Given the description of an element on the screen output the (x, y) to click on. 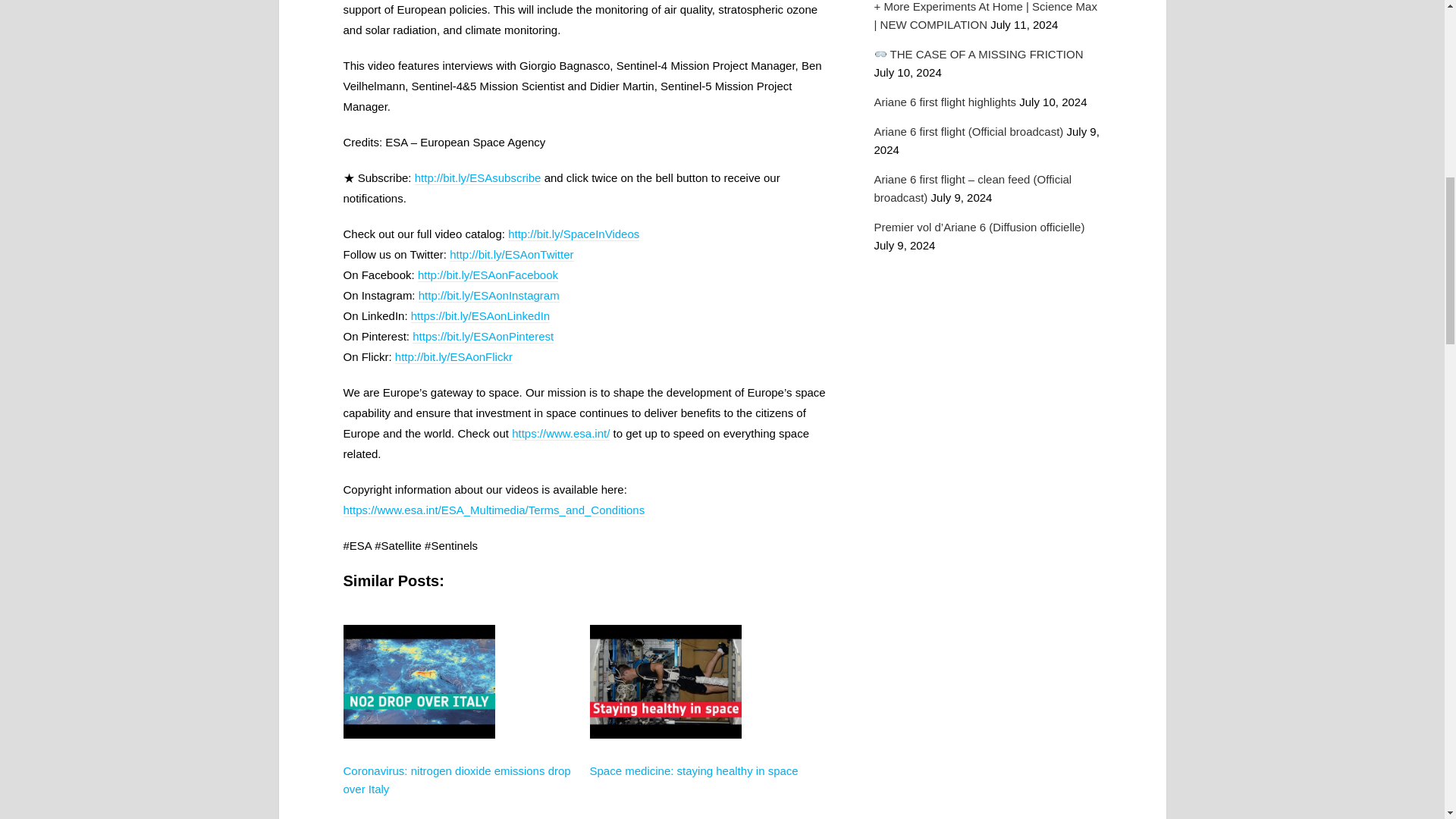
Space (665, 773)
Coronavirus: nitrogen dioxide emissions drop over Italy (456, 779)
Space medicine: staying healthy in space (693, 770)
Coronavirus: nitrogen dioxide emissions drop over Italy (456, 779)
Coronavirus: (418, 773)
Space medicine: staying healthy in space (693, 770)
